Given the description of an element on the screen output the (x, y) to click on. 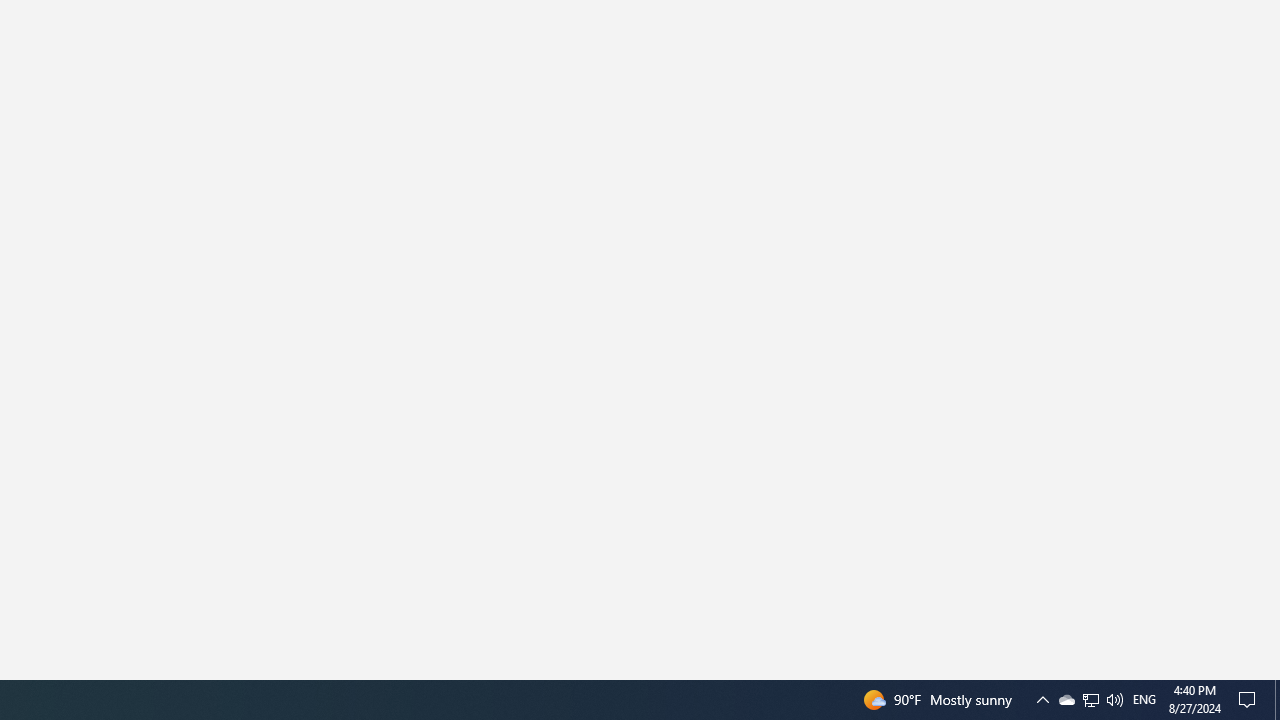
Show desktop (1277, 699)
Action Center, No new notifications (1066, 699)
User Promoted Notification Area (1250, 699)
Notification Chevron (1091, 699)
Q2790: 100% (1090, 699)
Vertical Small Increase (1042, 699)
Tray Input Indicator - English (United States) (1114, 699)
